Given the description of an element on the screen output the (x, y) to click on. 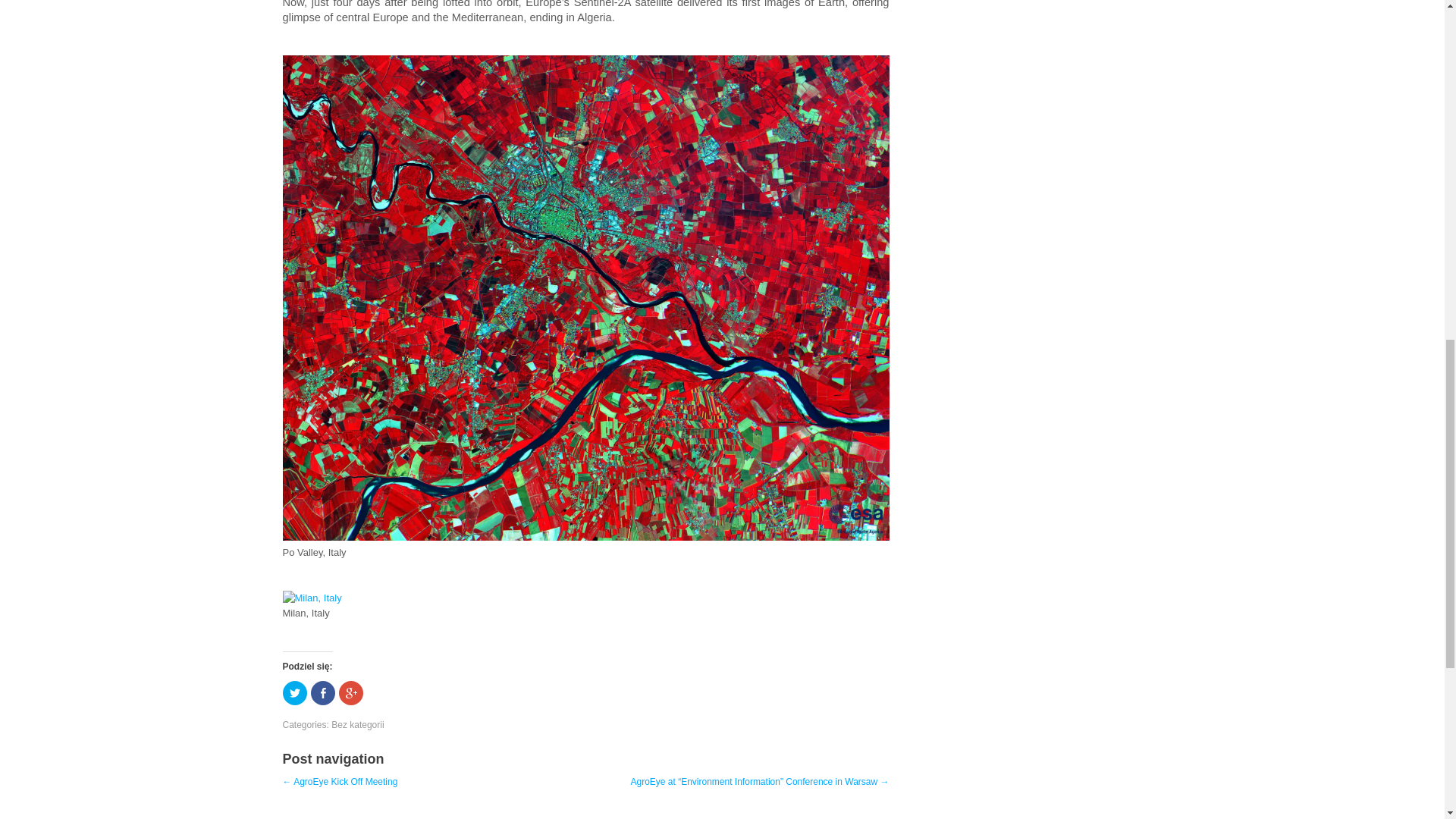
Share on Facebook (322, 692)
Click to share on Twitter (293, 692)
View all posts in Bez kategorii (357, 724)
Bez kategorii (357, 724)
